Given the description of an element on the screen output the (x, y) to click on. 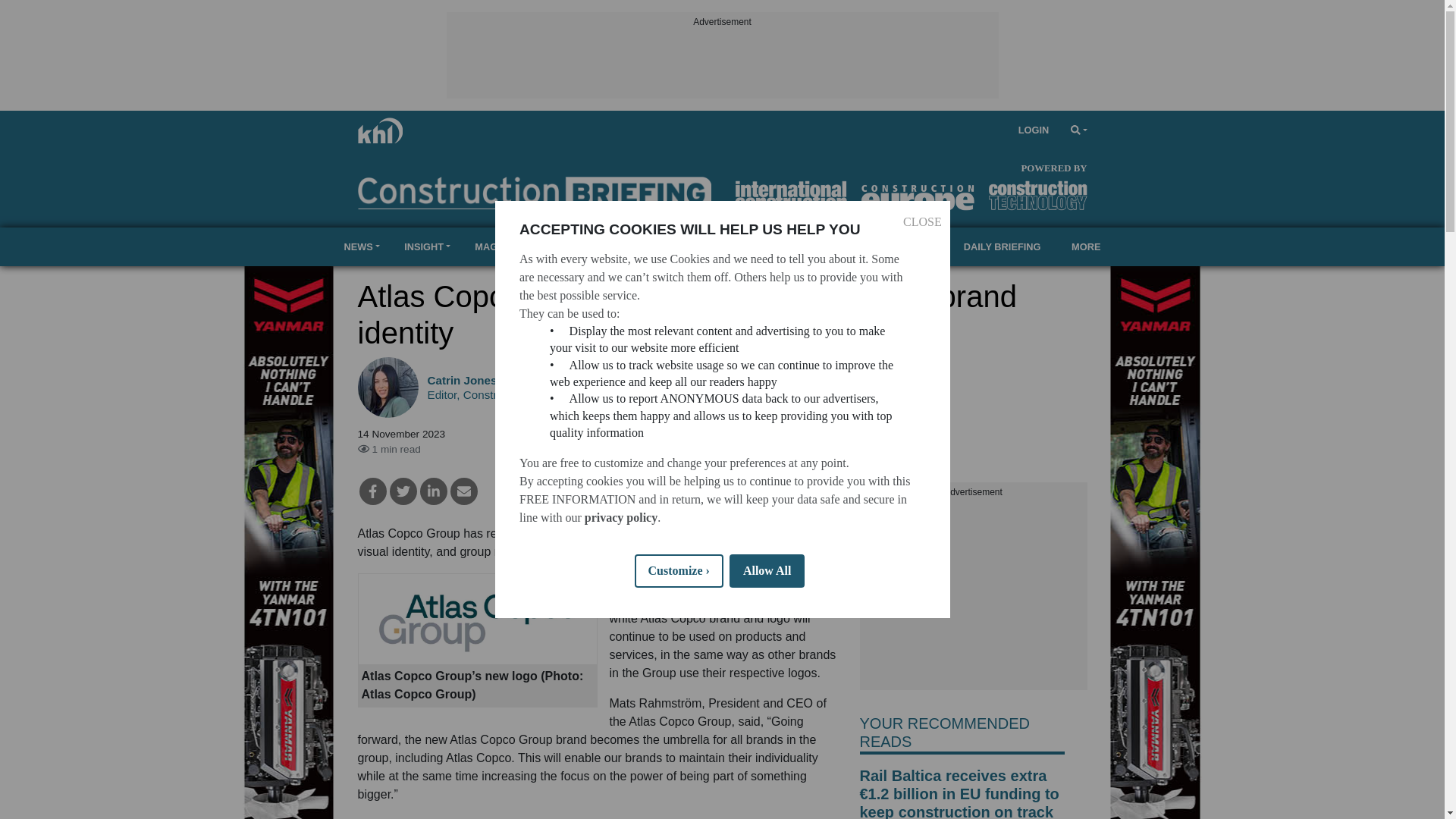
Share this page on Linkedin (433, 491)
Share this page on Facebook (373, 491)
3rd party ad content (973, 595)
Share this page on Twitter (403, 491)
Share this page via email (463, 491)
3rd party ad content (721, 64)
